Given the description of an element on the screen output the (x, y) to click on. 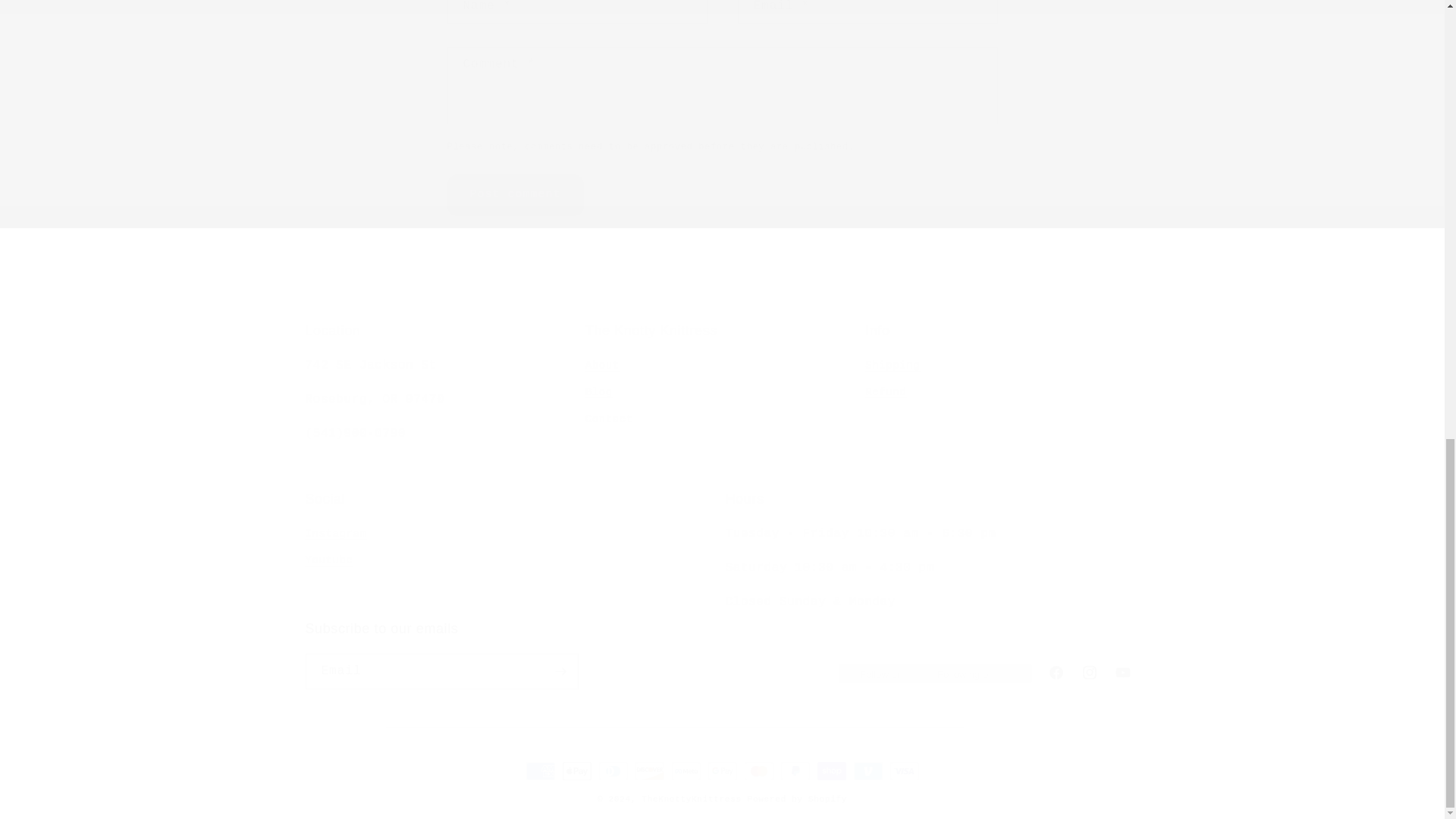
Post comment (514, 195)
